Given the description of an element on the screen output the (x, y) to click on. 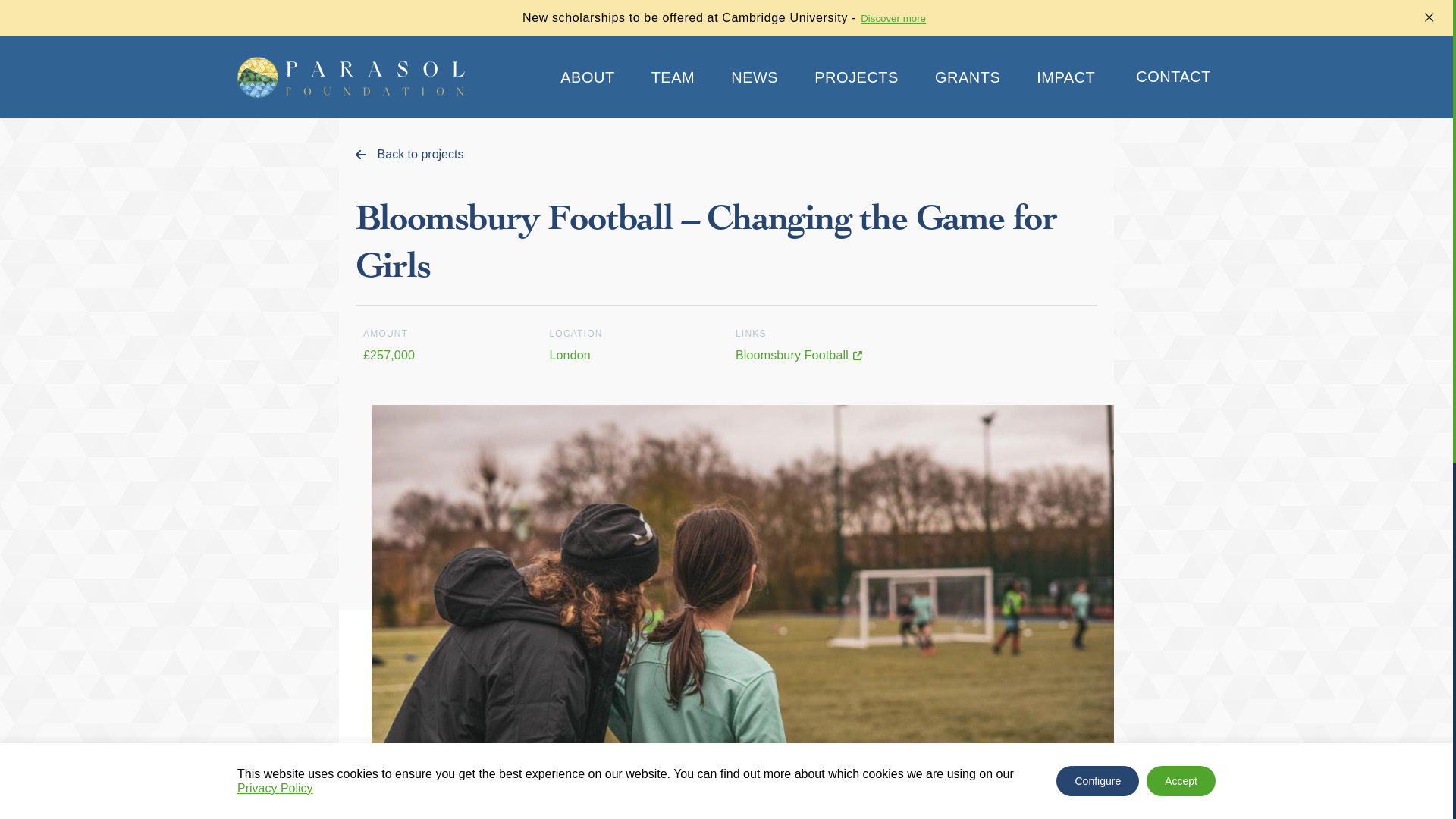
GRANTS (967, 77)
PROJECTS (855, 77)
Privacy Policy (275, 788)
Configure (1097, 780)
NEWS (753, 77)
CONTACT (1173, 76)
Bloomsbury Football (819, 355)
TEAM (672, 77)
IMPACT (1065, 77)
Accept (1181, 780)
